Given the description of an element on the screen output the (x, y) to click on. 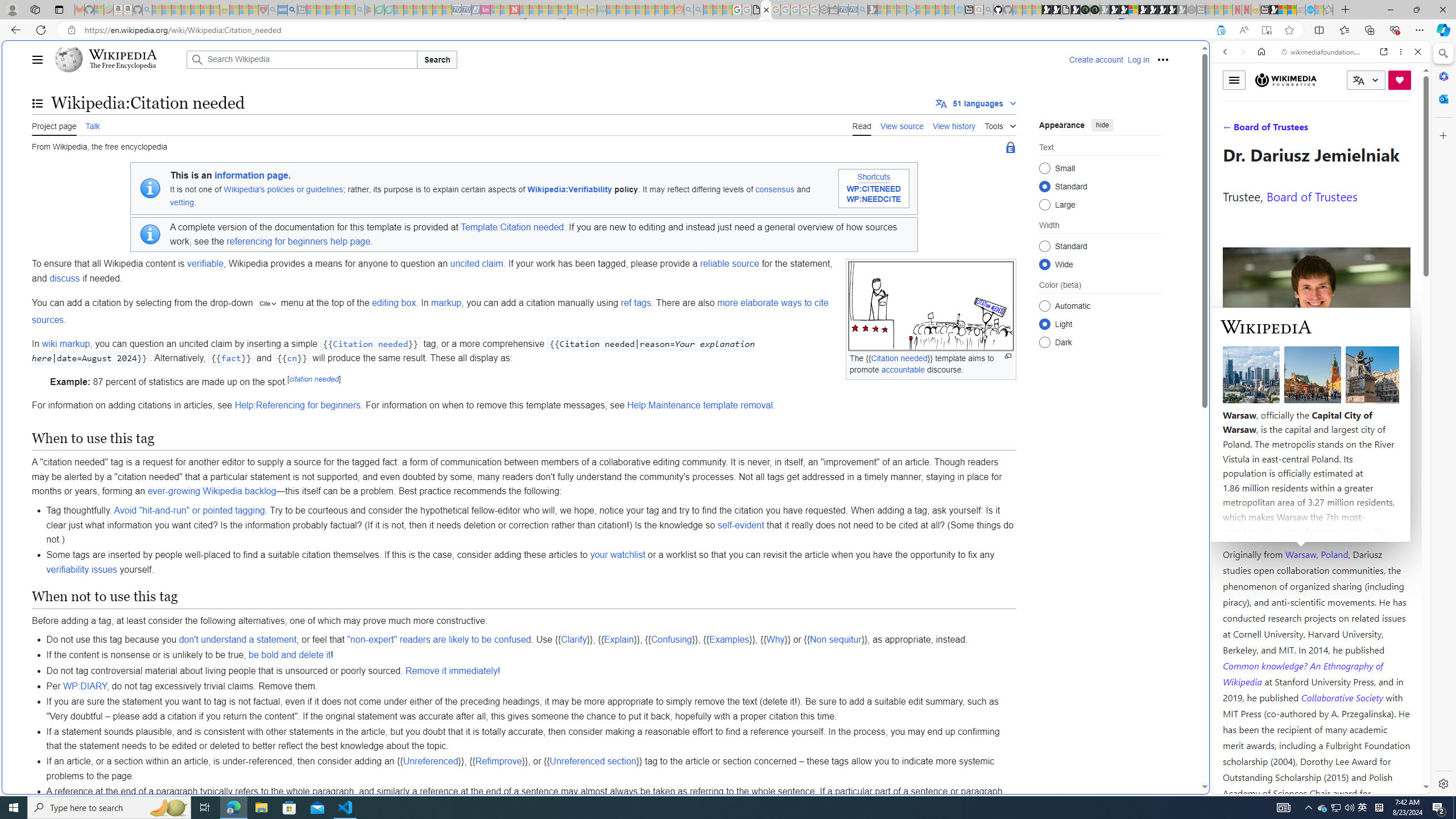
uncited claim (476, 262)
Log in (1137, 58)
cn (291, 357)
Why (774, 639)
